Given the description of an element on the screen output the (x, y) to click on. 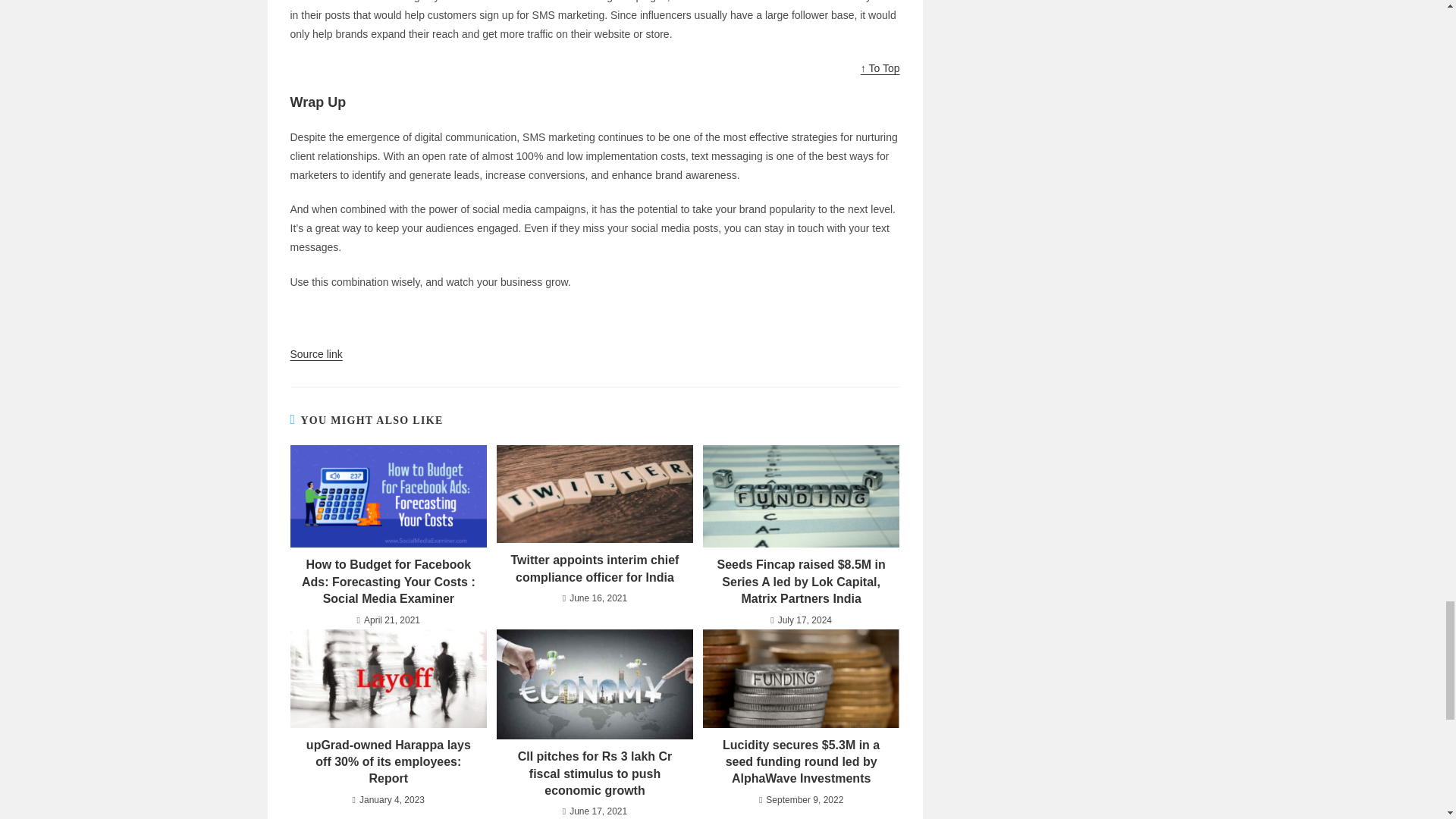
Source link (315, 354)
Twitter appoints interim chief compliance officer for India (594, 569)
